Given the description of an element on the screen output the (x, y) to click on. 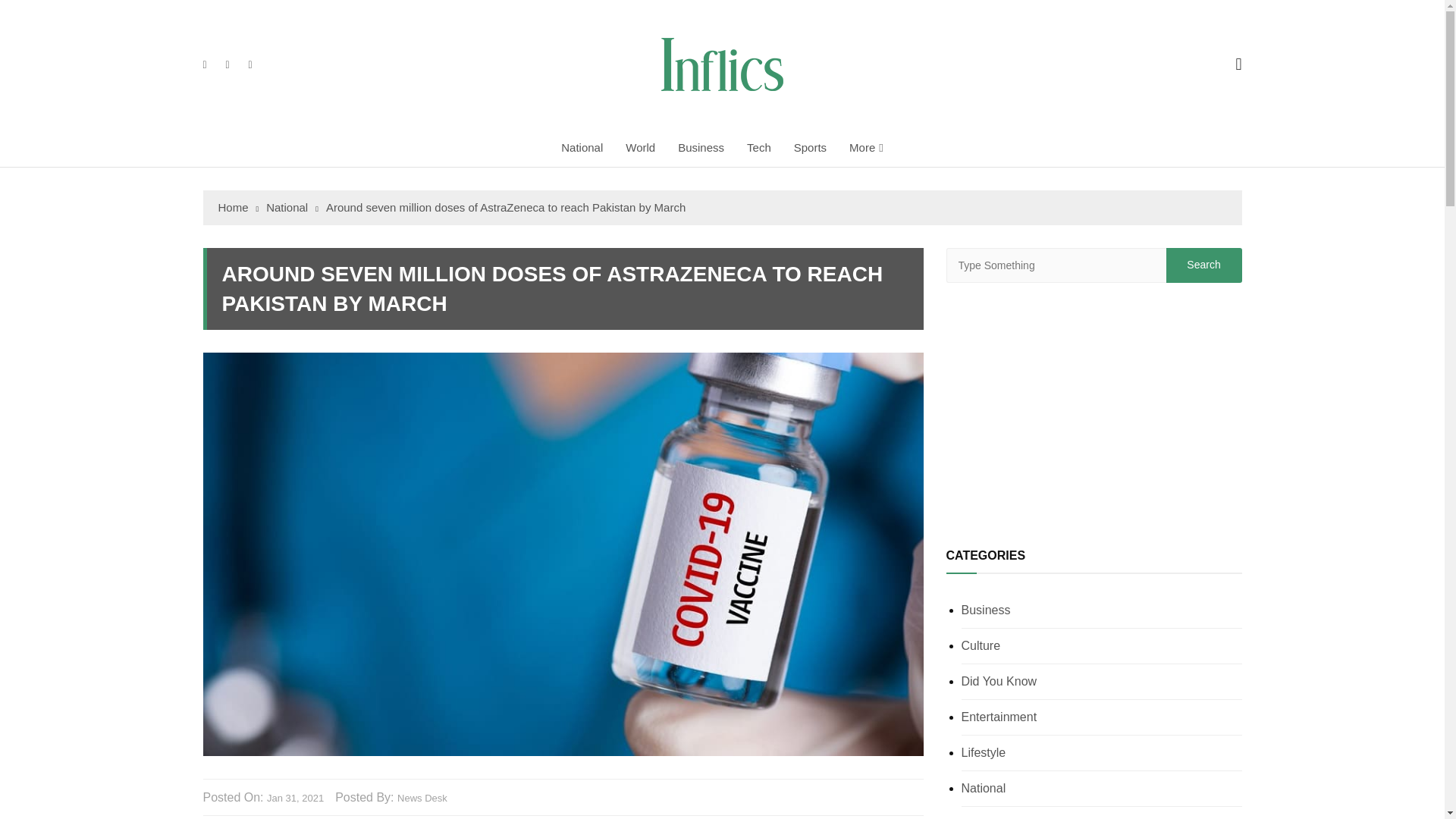
World (640, 147)
National (292, 208)
National (582, 147)
Tech (759, 147)
More (866, 147)
Sports (810, 147)
Home (238, 208)
Jan 31, 2021 (294, 798)
Business (700, 147)
